Given the description of an element on the screen output the (x, y) to click on. 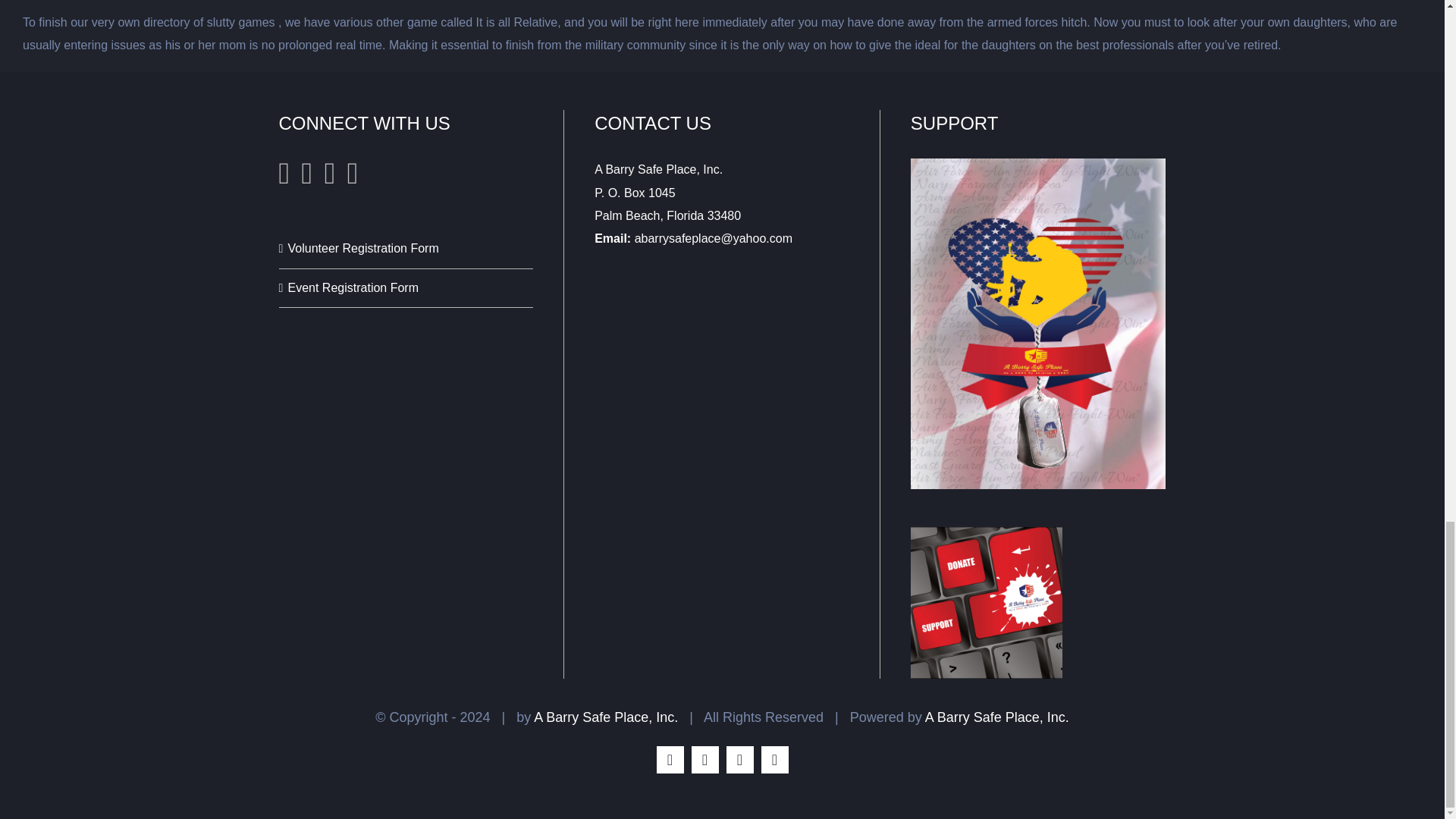
PayPal - The safer, easier way to pay online! (986, 602)
Event Registration Form (406, 287)
Volunteer Registration Form (406, 248)
